Given the description of an element on the screen output the (x, y) to click on. 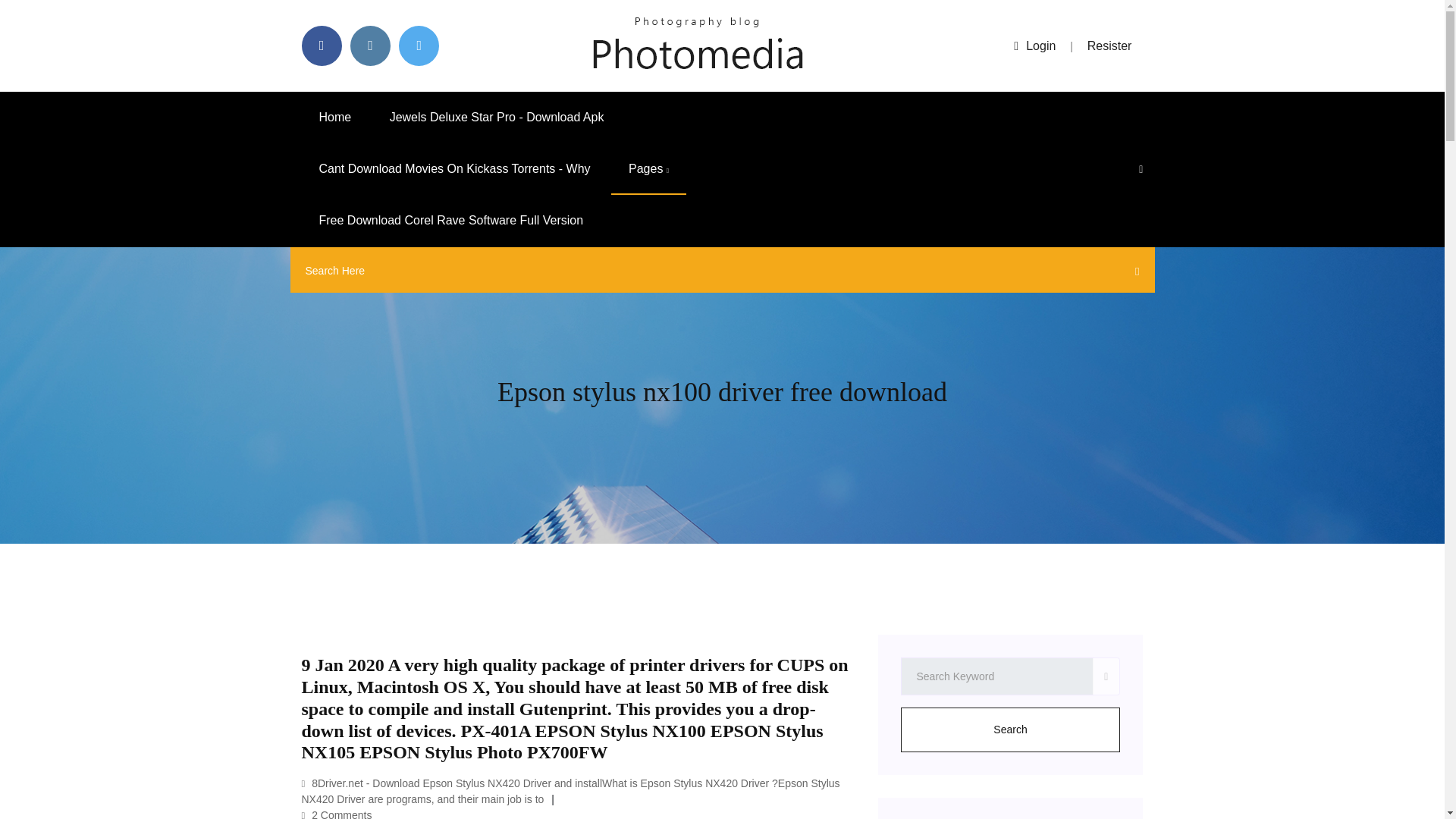
Home (335, 117)
Close Search (1132, 274)
Jewels Deluxe Star Pro - Download Apk (496, 117)
Login (1034, 45)
Resister (1109, 45)
Free Download Corel Rave Software Full Version (451, 220)
Cant Download Movies On Kickass Torrents - Why (454, 168)
Pages (648, 168)
2 Comments (336, 814)
